Given the description of an element on the screen output the (x, y) to click on. 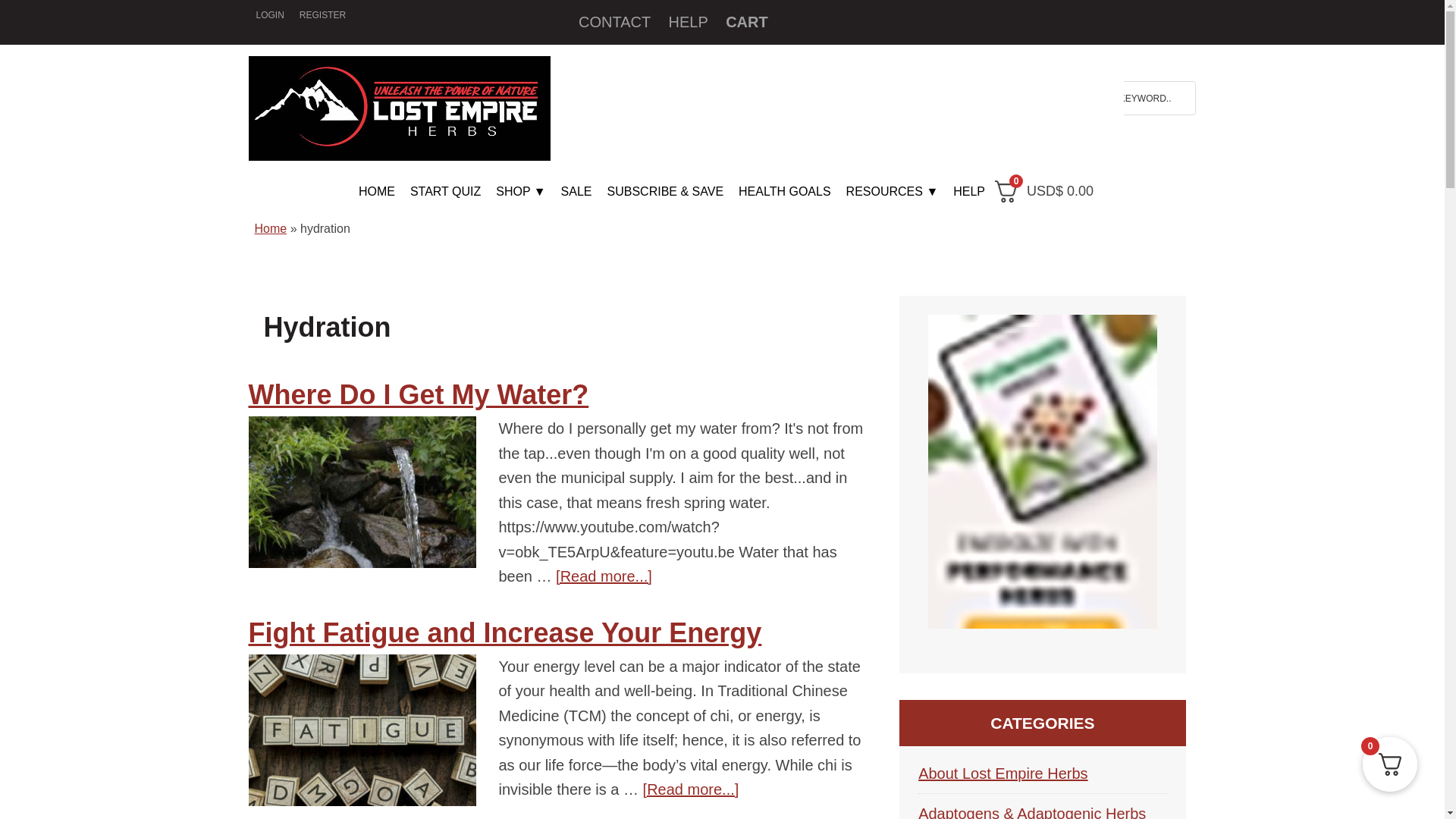
CONTACT (614, 21)
Search (1184, 92)
HELP (688, 21)
LOGIN (270, 14)
Login (270, 14)
HEALTH GOALS (784, 191)
Register (322, 14)
Lost Empire Herbs (399, 108)
HOME (376, 191)
START QUIZ (445, 191)
